Given the description of an element on the screen output the (x, y) to click on. 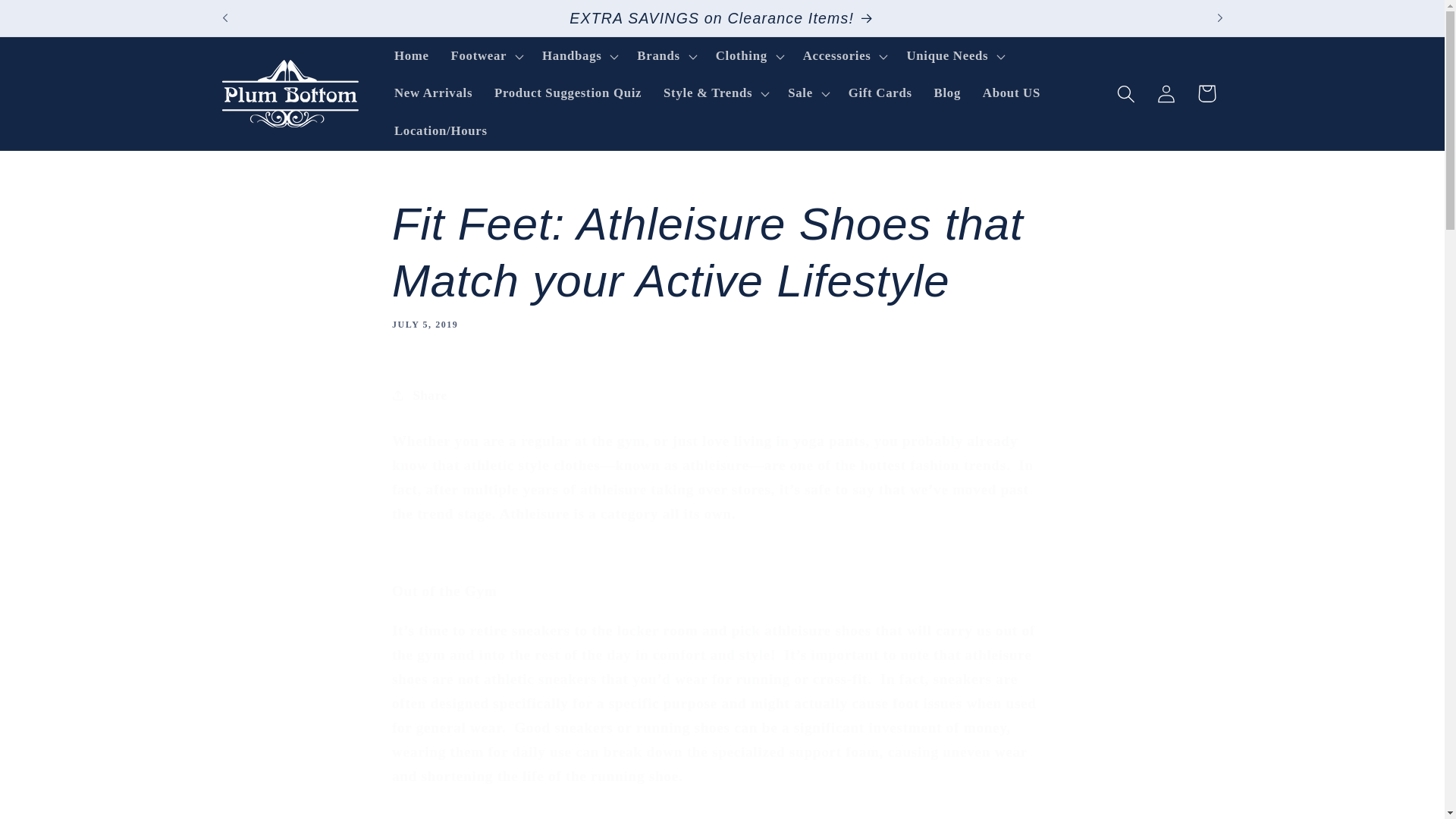
EXTRA SAVINGS on Clearance Items! (721, 18)
Skip to content (55, 20)
Share (721, 395)
